Given the description of an element on the screen output the (x, y) to click on. 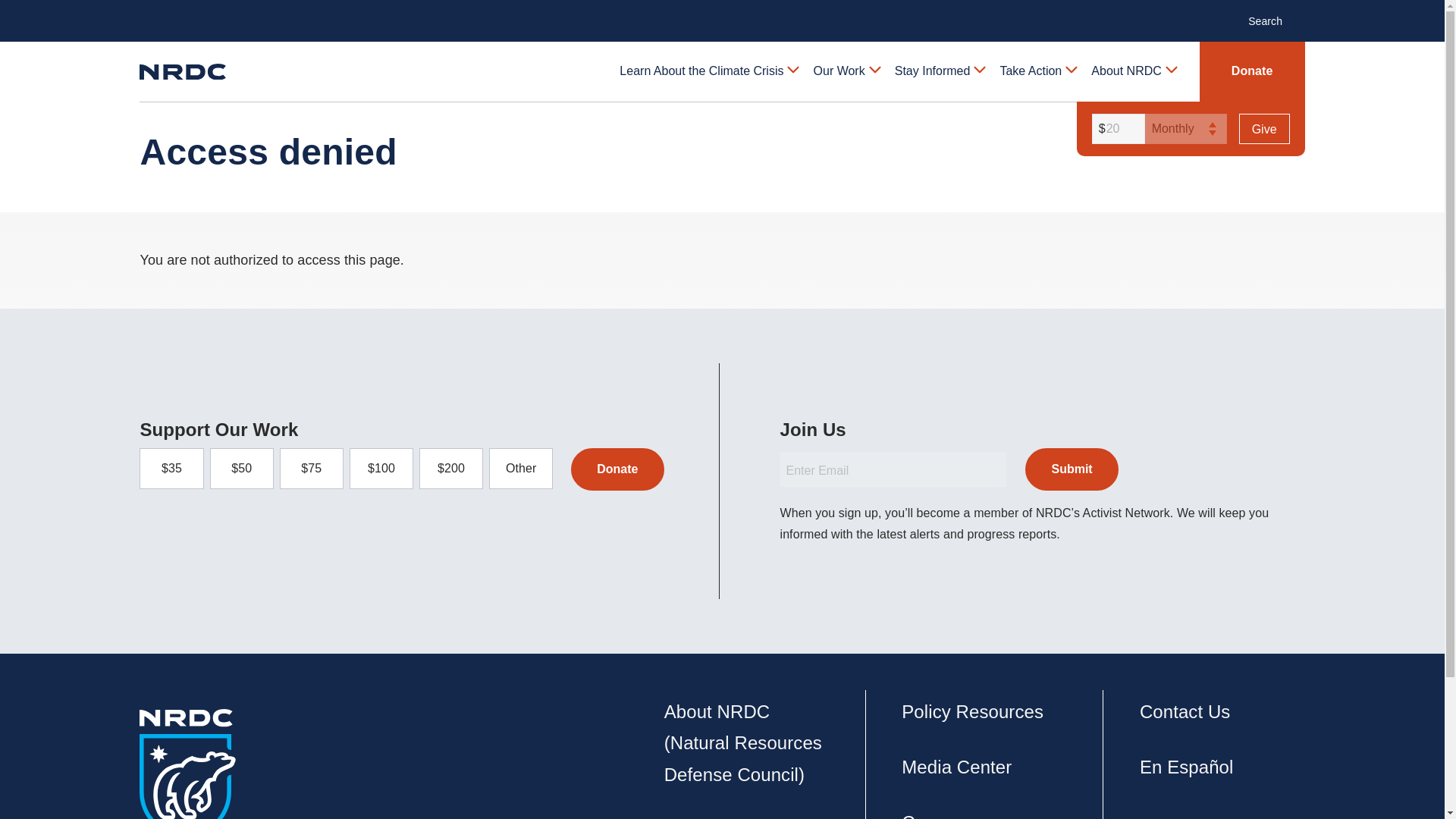
Learn About the Climate Crisis (707, 71)
20 (1116, 128)
Stay Informed (939, 71)
Search (1272, 19)
Skip to main content (721, 12)
